Given the description of an element on the screen output the (x, y) to click on. 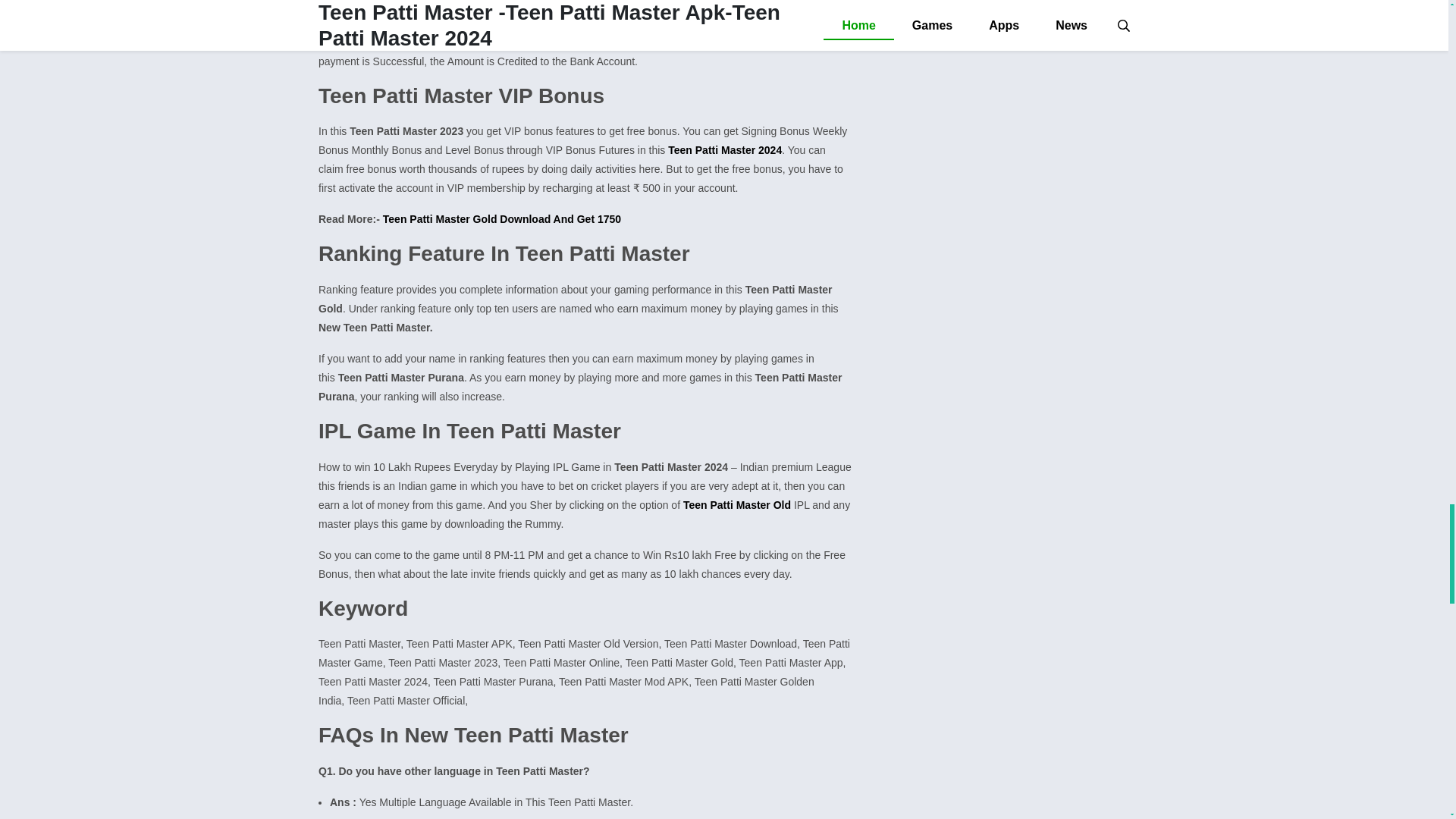
Teen Patti Master Old (737, 504)
Teen Patti Master 2024 (724, 150)
Teen Patti Master Gold Download And Get 1750 (501, 218)
